Given the description of an element on the screen output the (x, y) to click on. 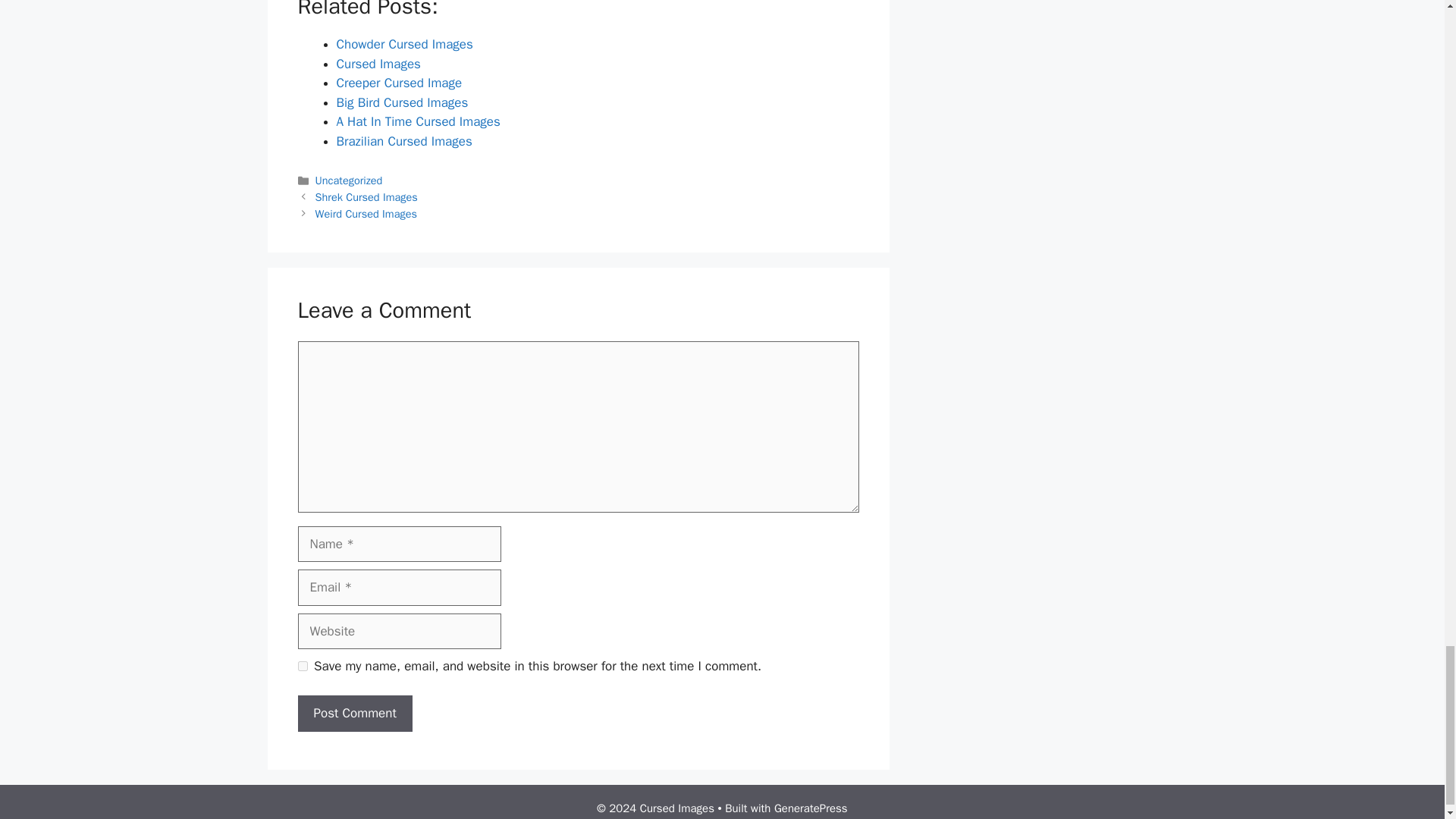
Post Comment (354, 713)
Post Comment (354, 713)
A Hat In Time Cursed Images (418, 121)
Cursed Images (378, 64)
yes (302, 665)
Weird Cursed Images (365, 213)
Chowder Cursed Images (404, 44)
Brazilian Cursed Images (403, 141)
GeneratePress (810, 807)
Uncategorized (348, 180)
Shrek Cursed Images (366, 196)
Creeper Cursed Image (399, 82)
Big Bird Cursed Images (402, 102)
